Given the description of an element on the screen output the (x, y) to click on. 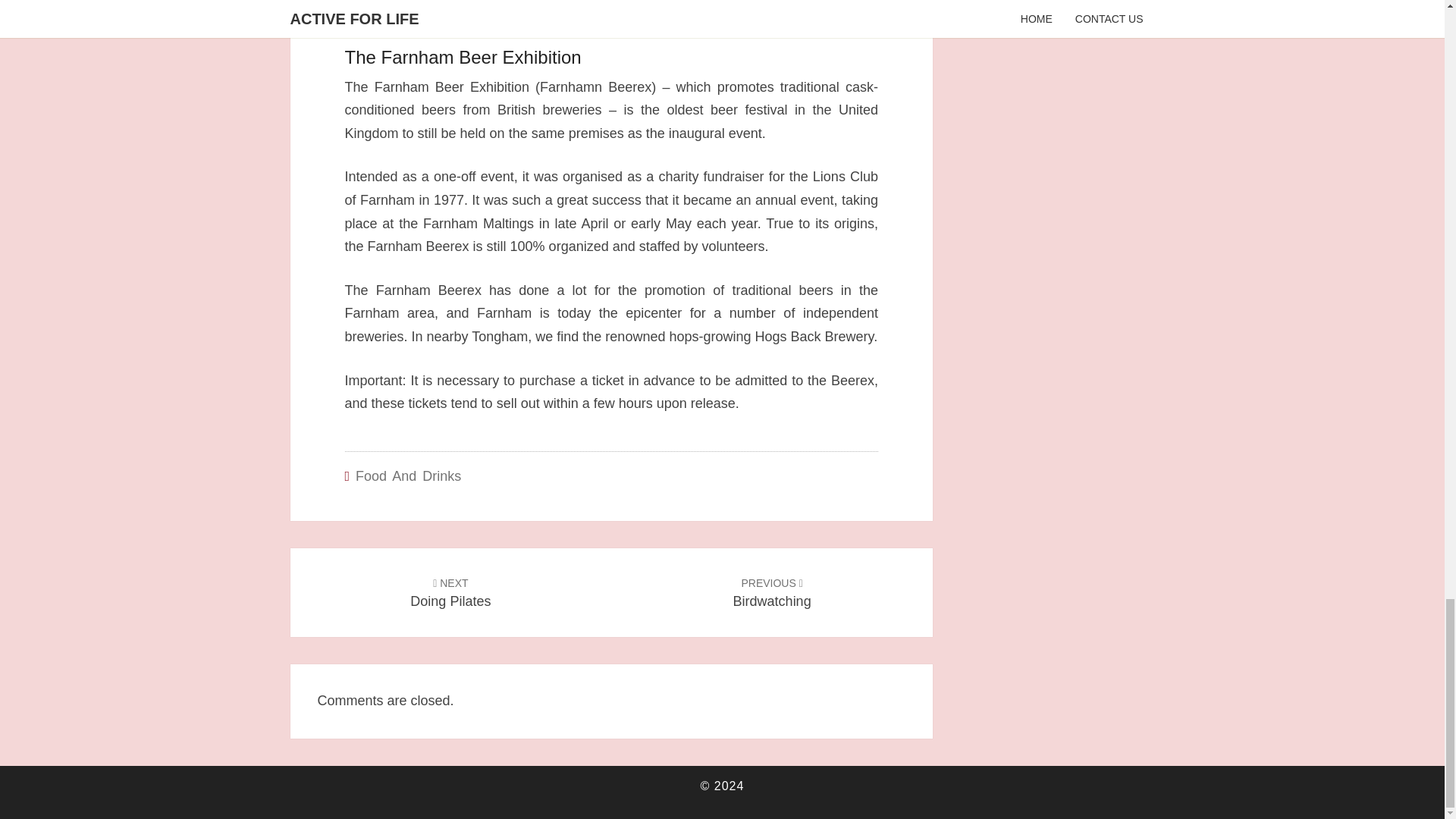
Food And Drinks (408, 476)
